Given the description of an element on the screen output the (x, y) to click on. 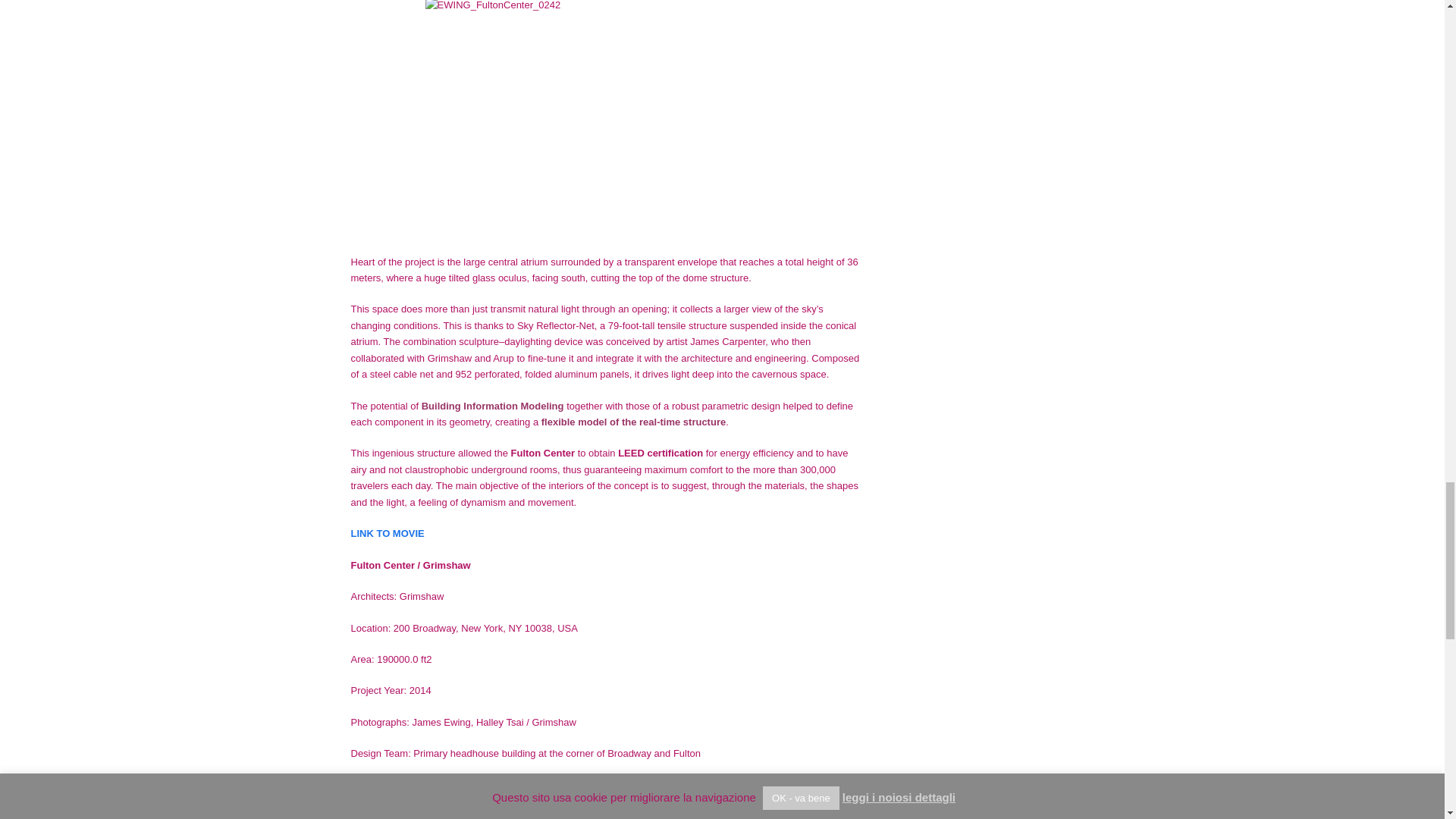
LINK TO MOVIE (386, 532)
